Given the description of an element on the screen output the (x, y) to click on. 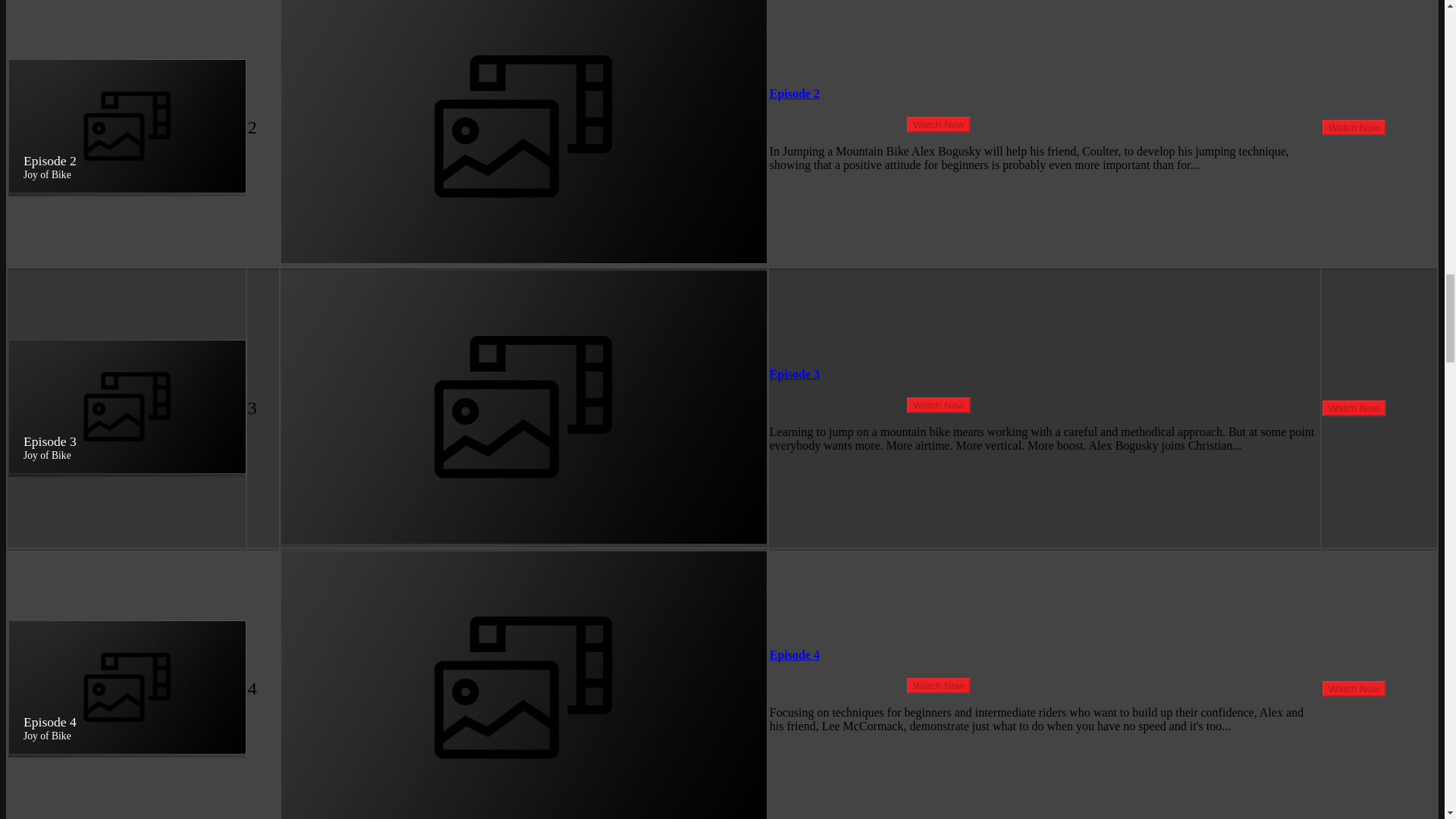
Episode 3 (794, 373)
Episode 4 (794, 654)
Episode 2 (794, 92)
